Given the description of an element on the screen output the (x, y) to click on. 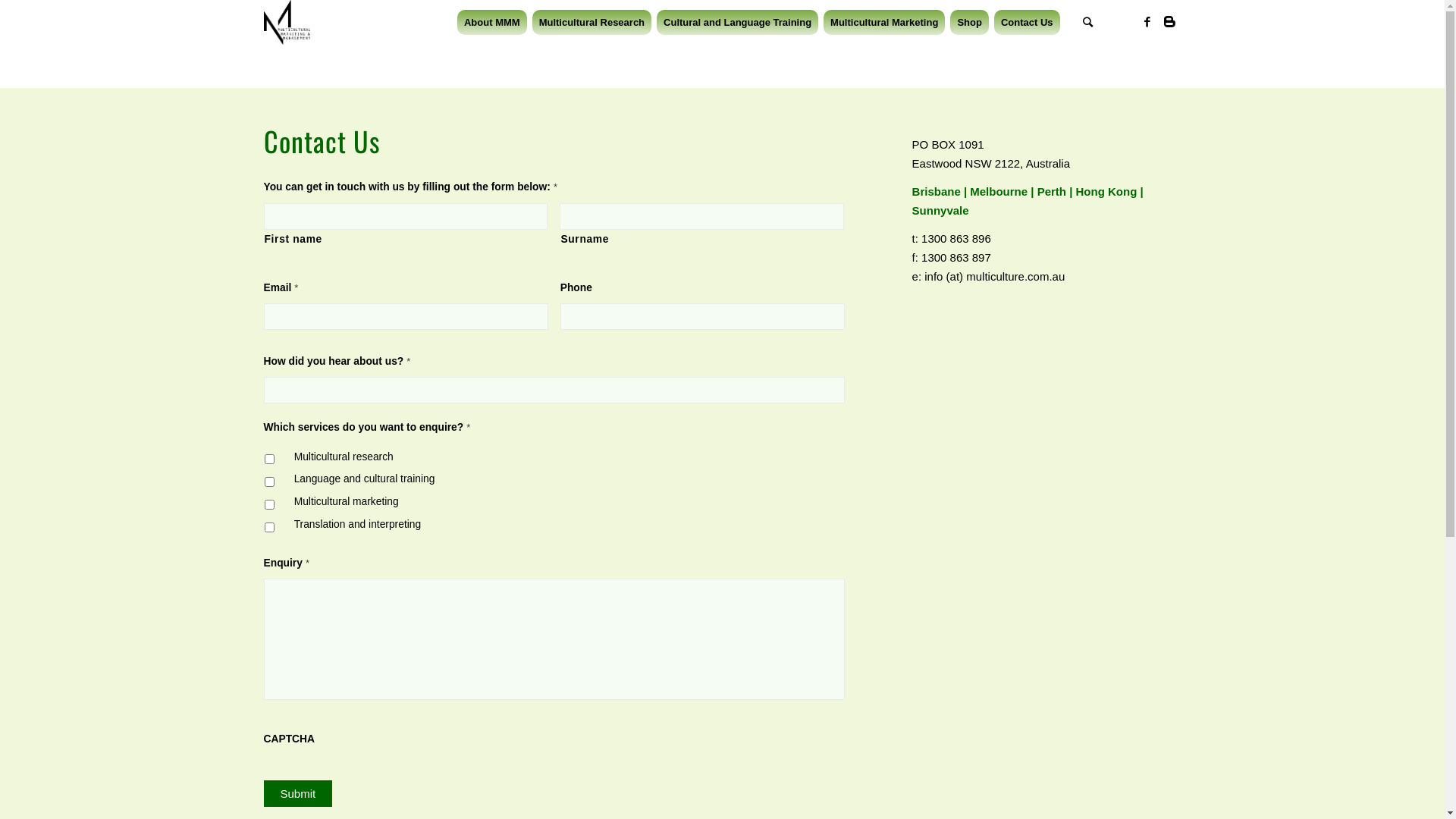
Multicultural Research Element type: text (596, 22)
Contact Us Element type: text (1032, 22)
Multicultural Marketing Element type: text (888, 22)
Submit Element type: text (297, 793)
Facebook Element type: hover (1146, 21)
Icon_name Element type: hover (1169, 21)
Cultural and Language Training Element type: text (742, 22)
About MMM Element type: text (491, 22)
Shop Element type: text (974, 22)
